Given the description of an element on the screen output the (x, y) to click on. 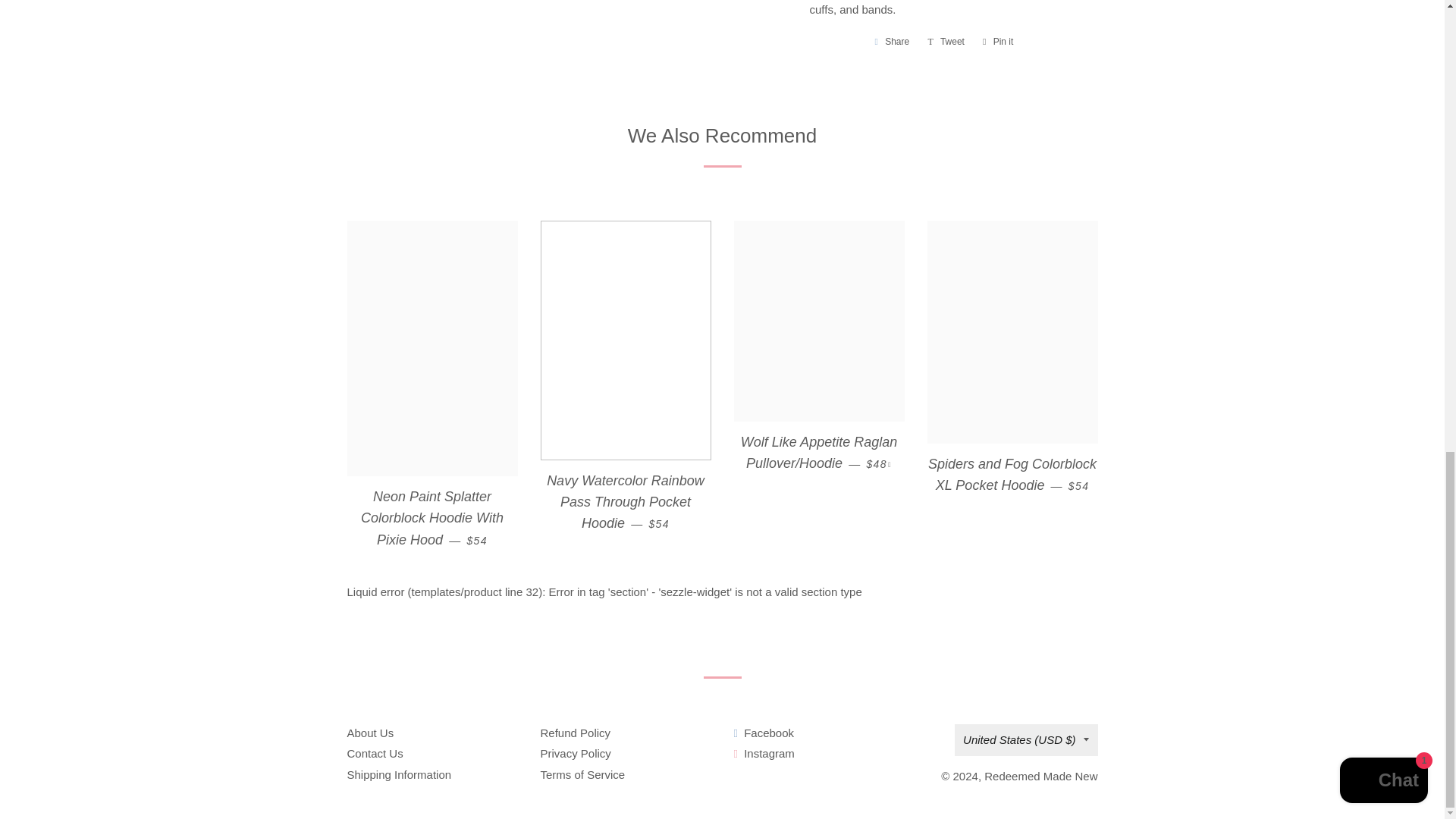
Tweet on Twitter (946, 41)
Redeemed Made New on Instagram (763, 753)
Redeemed Made New on Facebook (763, 732)
Share on Facebook (892, 41)
Pin on Pinterest (997, 41)
